Given the description of an element on the screen output the (x, y) to click on. 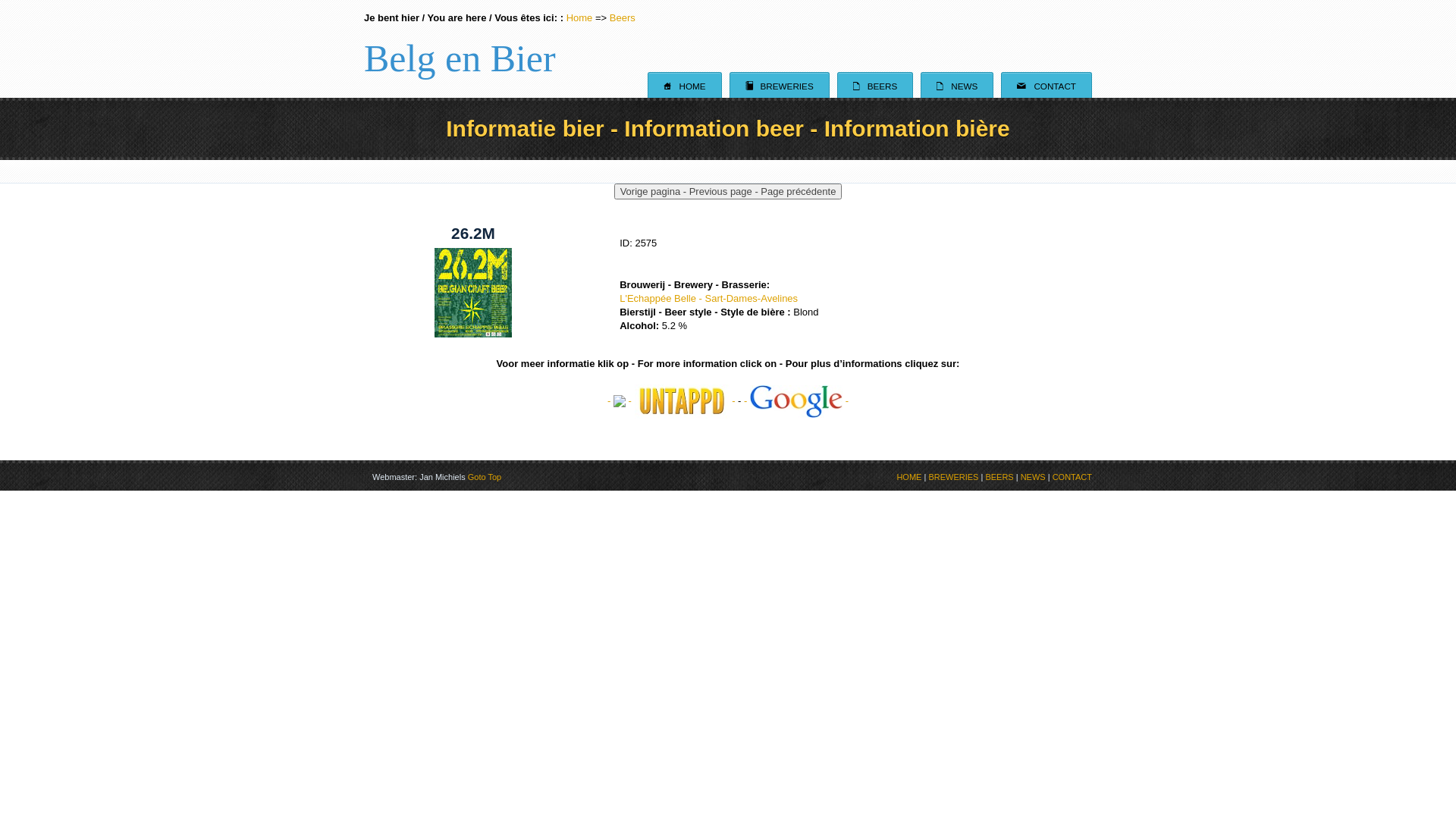
BEERS Element type: text (999, 476)
Home Element type: text (579, 17)
Goto Top Element type: text (484, 476)
- - Element type: text (620, 400)
- Element type: text (686, 400)
SHOME Element type: text (684, 84)
NEWS Element type: text (1032, 476)
BREWERIES Element type: text (953, 476)
HOME Element type: text (908, 476)
Belg en Bier Element type: text (459, 48)
ENEWS Element type: text (956, 84)
MCONTACT Element type: text (1046, 84)
Beers Element type: text (622, 17)
CONTACT Element type: text (1072, 476)
EBEERS Element type: text (875, 84)
- - Element type: text (795, 400)
